Given the description of an element on the screen output the (x, y) to click on. 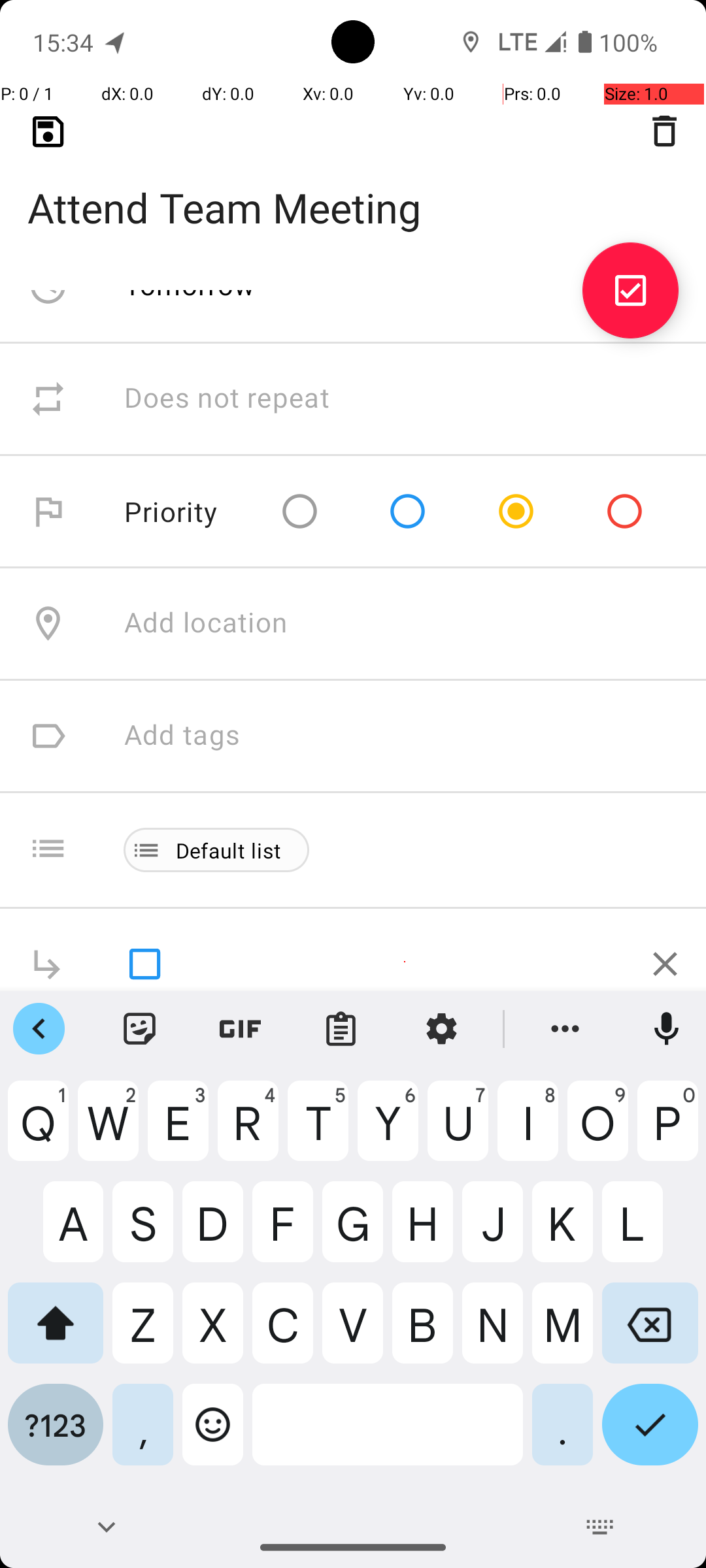
Week before due 05:55 Element type: android.widget.TextView (272, 173)
